Given the description of an element on the screen output the (x, y) to click on. 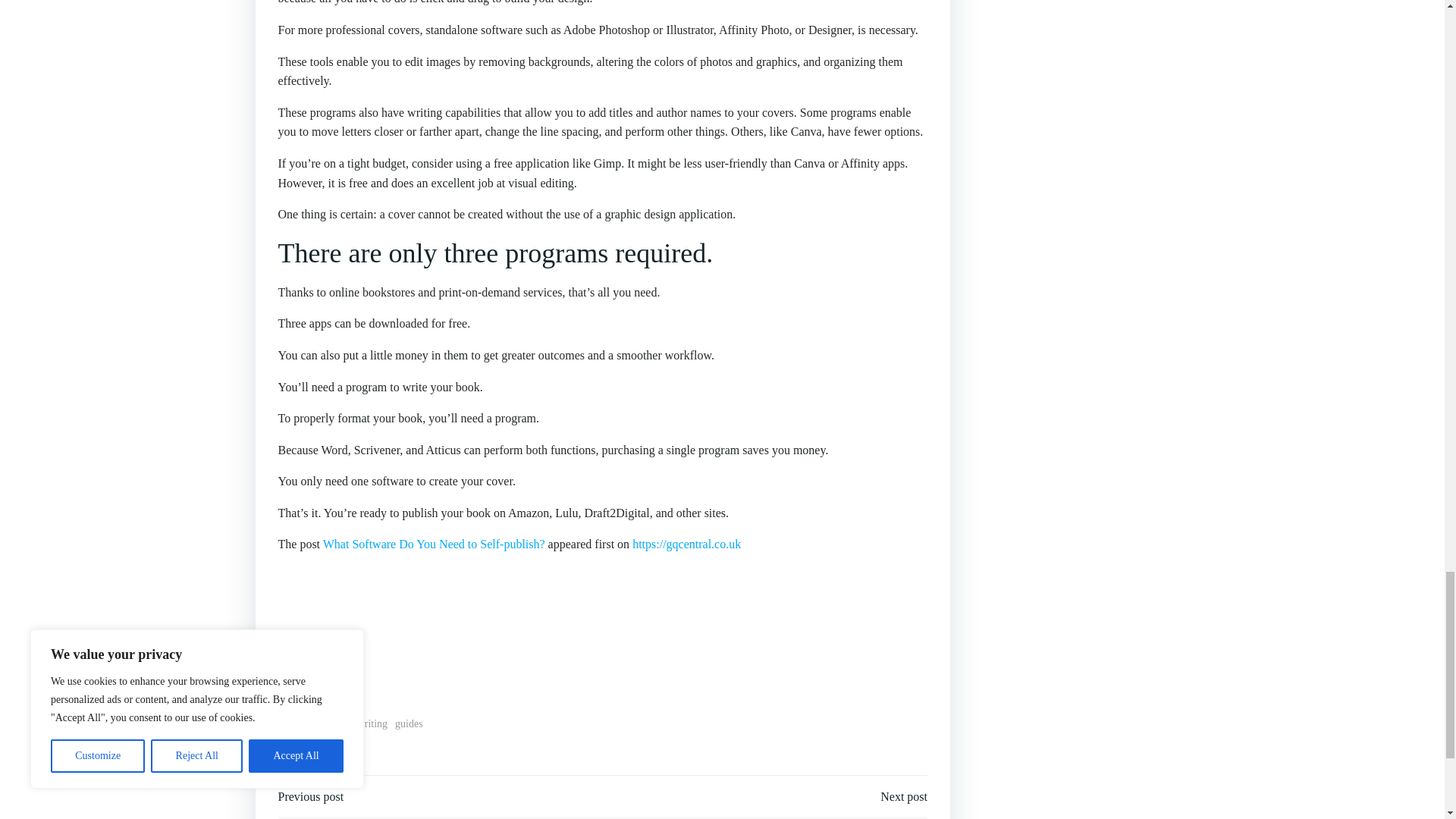
guides (408, 723)
Copywriting (360, 723)
What Software Do You Need to Self-publish? (433, 543)
